Given the description of an element on the screen output the (x, y) to click on. 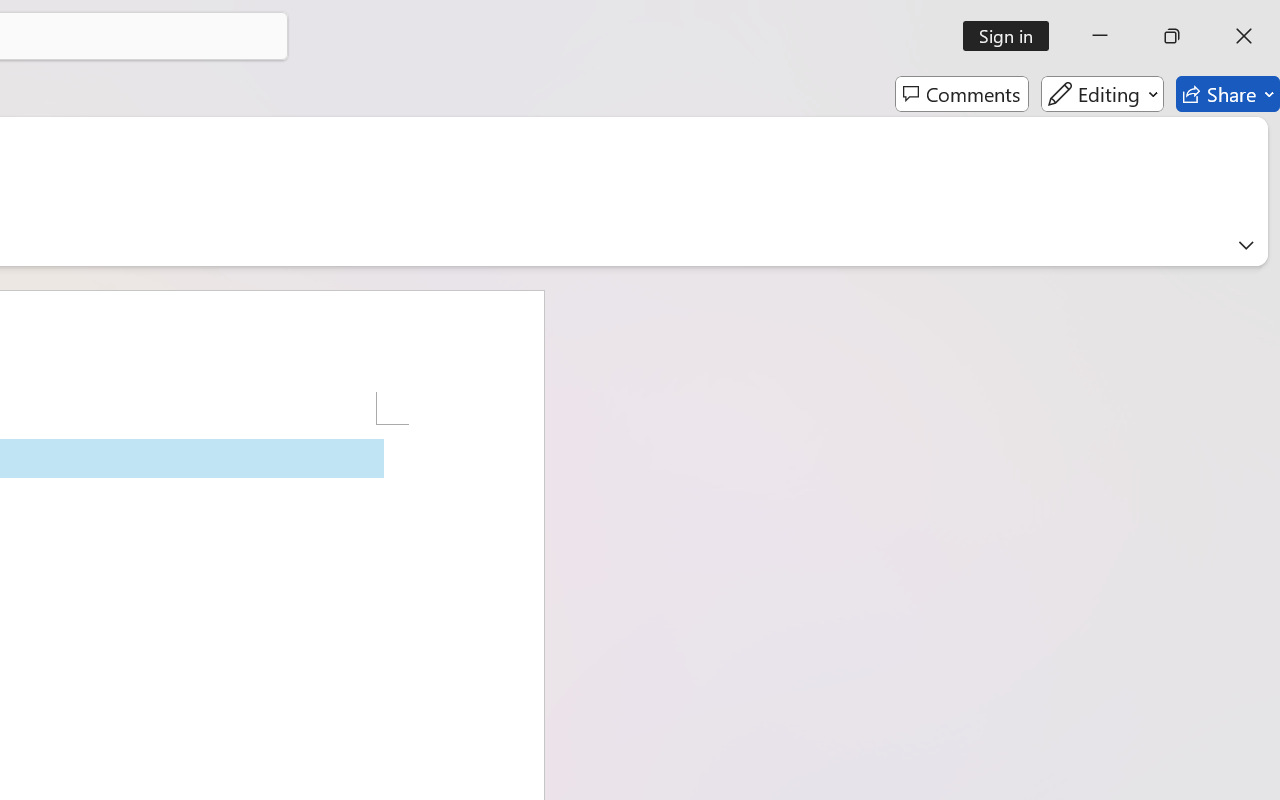
Editing (1101, 94)
Sign in (1012, 35)
